Given the description of an element on the screen output the (x, y) to click on. 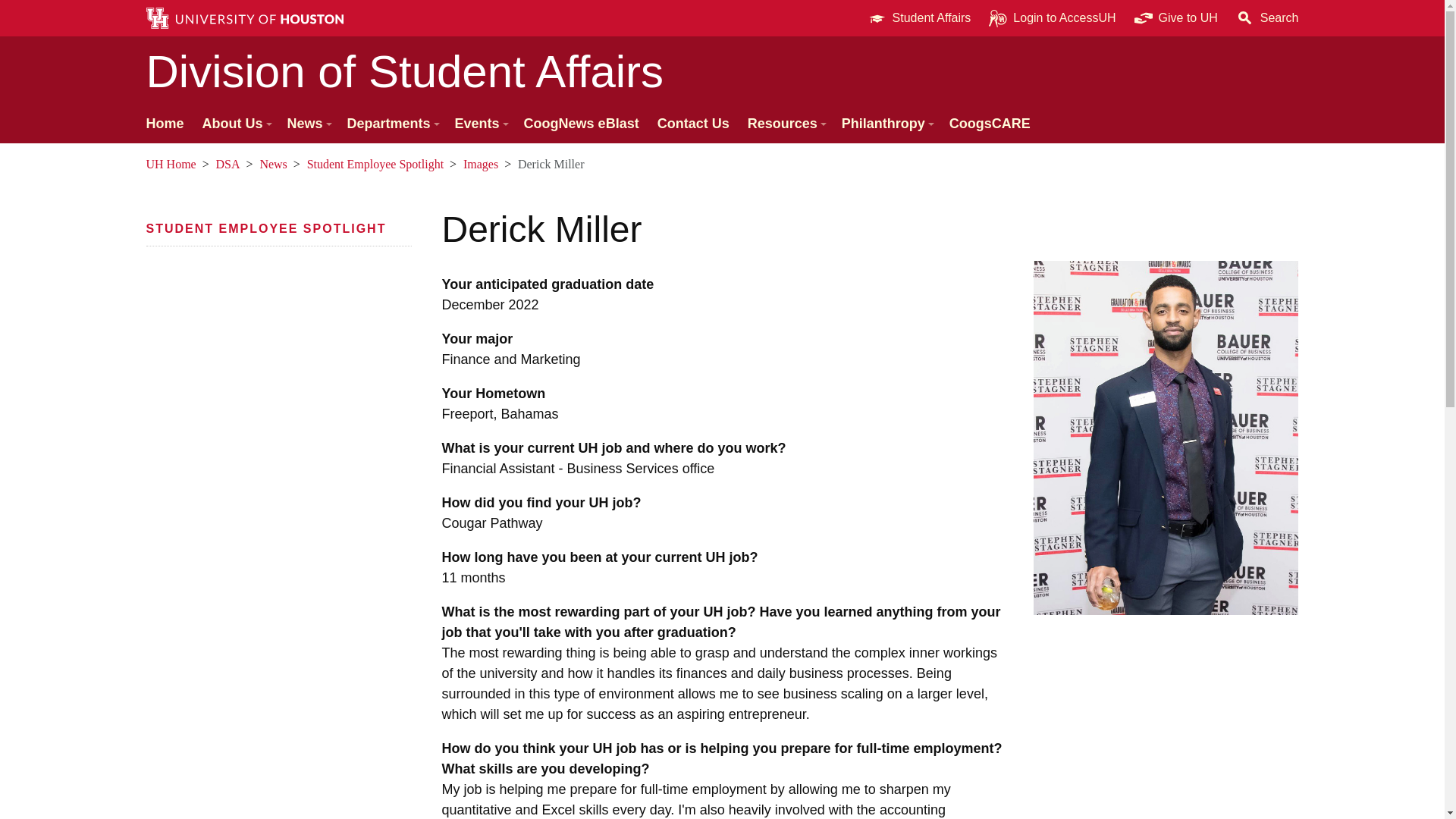
Student Affairs (919, 18)
About Us (235, 123)
Give to UH (1176, 18)
News (307, 123)
Login to AccessUH (1051, 18)
Departments (391, 123)
University of Houston (598, 502)
University of Houston (1208, 17)
Search (1267, 18)
Division of Student Affairs (721, 71)
